Given the description of an element on the screen output the (x, y) to click on. 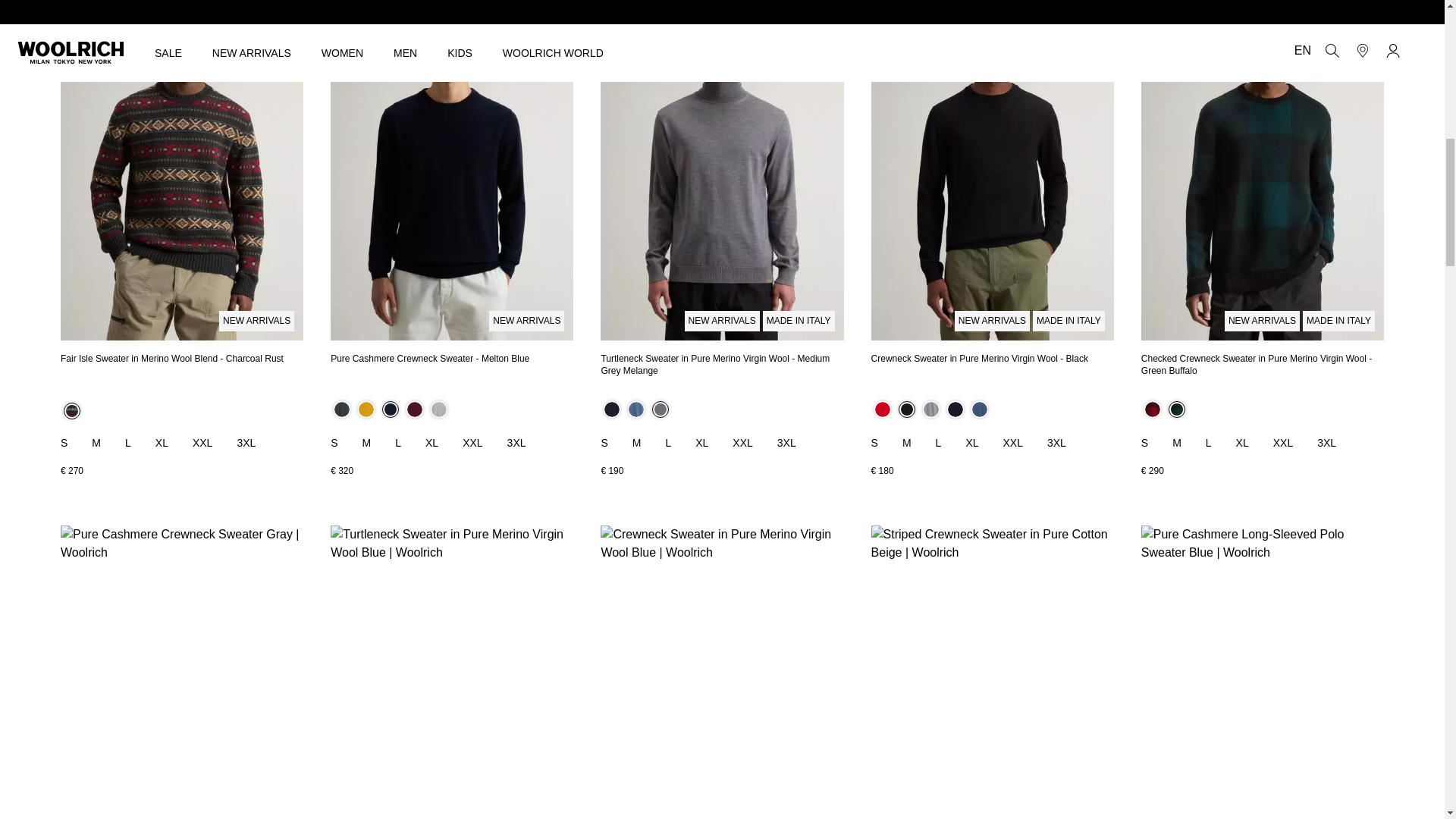
Charcoal Rust (72, 410)
Charcoal Melange (341, 409)
Lemon Curry (366, 409)
